Given the description of an element on the screen output the (x, y) to click on. 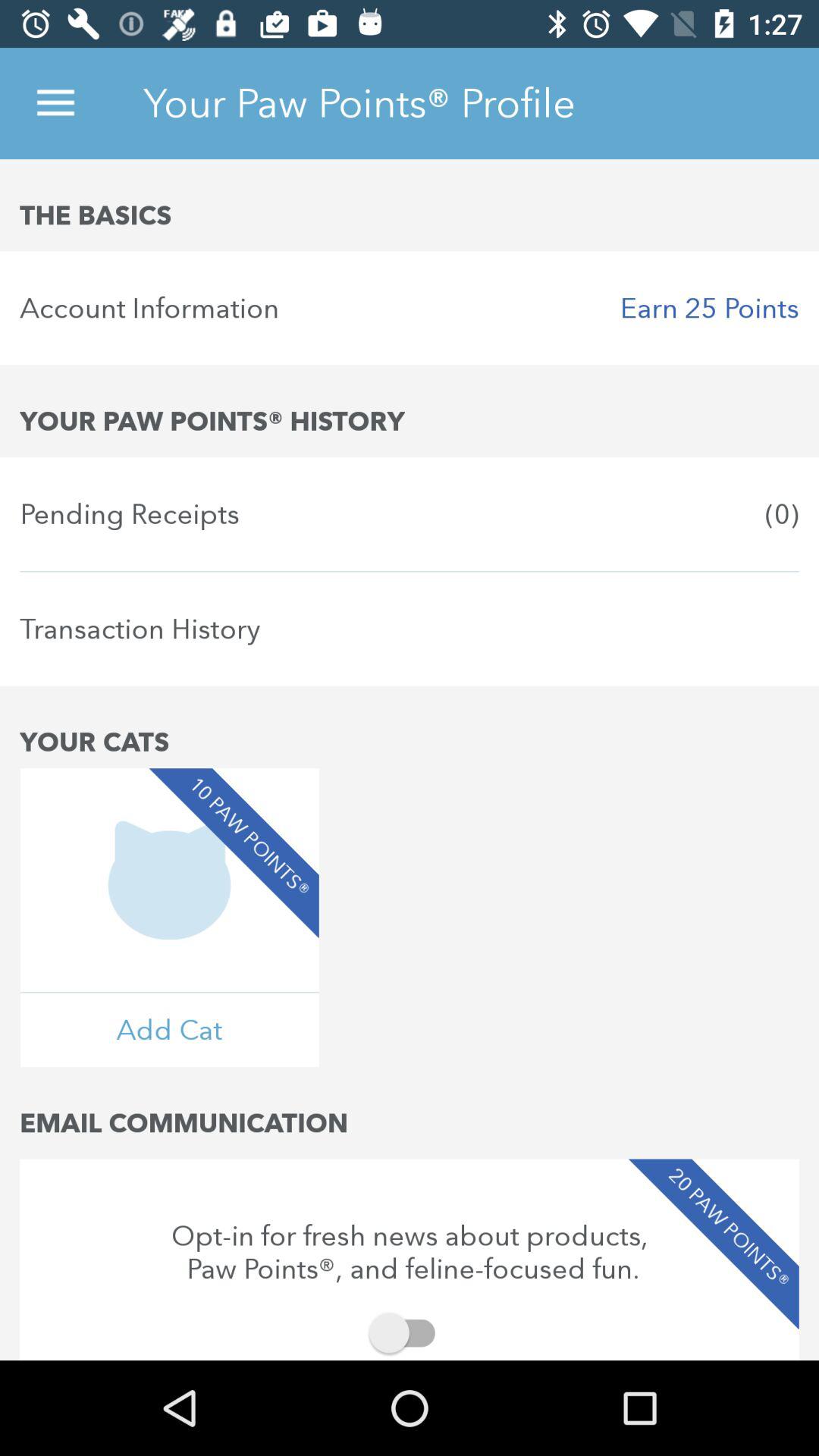
tap pending receipts (409, 514)
